Given the description of an element on the screen output the (x, y) to click on. 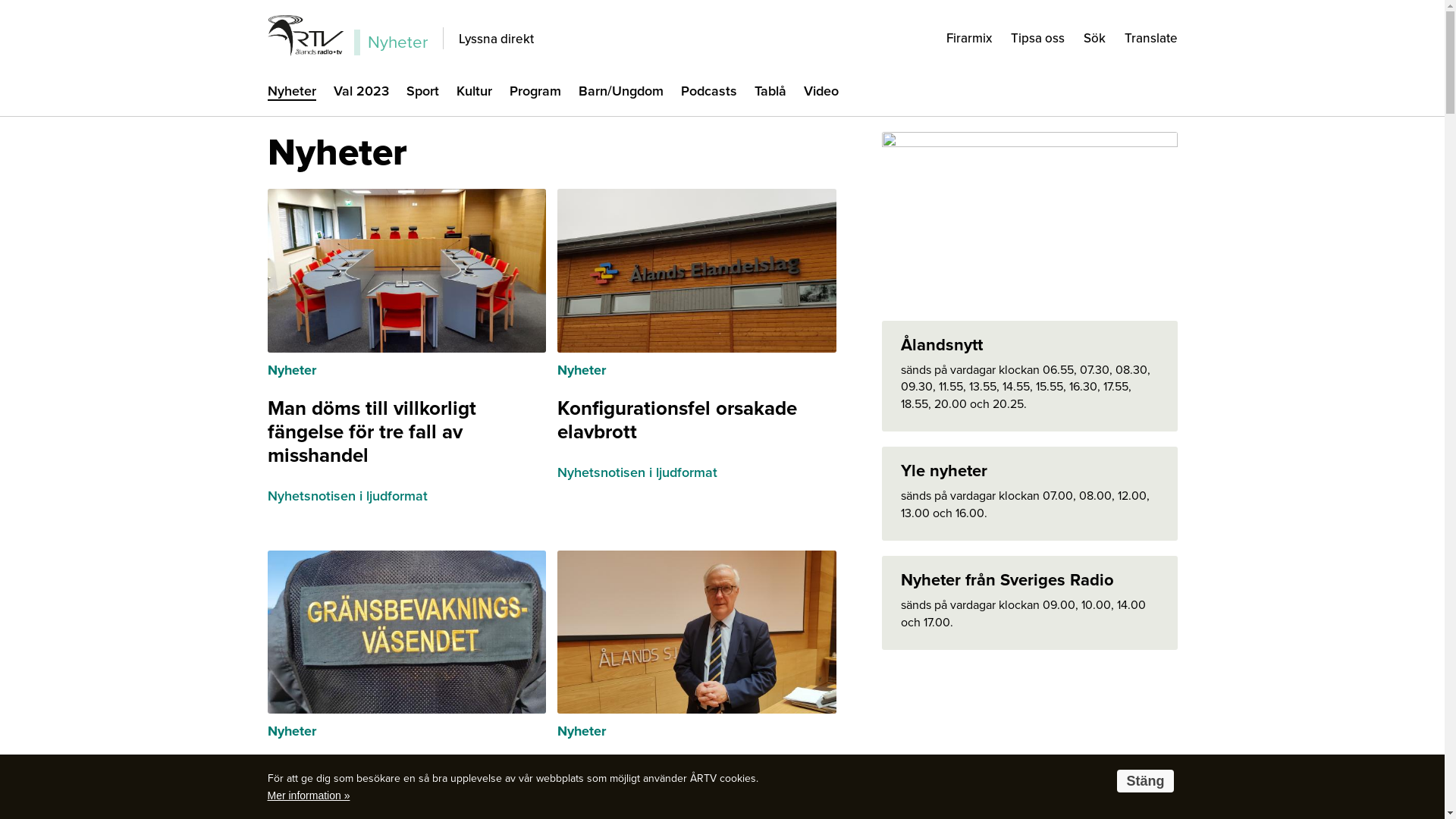
Nyheter Element type: text (581, 369)
Nyheter Element type: text (581, 730)
Kultur Element type: text (474, 92)
Program Element type: text (535, 92)
Tipsa oss Element type: text (1036, 38)
Nyheter Element type: text (290, 730)
Podcasts Element type: text (708, 92)
Nyhetsnotisen i ljudformat Element type: text (637, 473)
Konfigurationsfel orsakade elavbrott Element type: text (677, 419)
Nyheter Element type: text (290, 369)
Val 2023 Element type: text (361, 92)
Nyhetsnotisen i ljudformat Element type: text (346, 496)
Sport Element type: text (422, 92)
Lyssna direkt Element type: text (495, 37)
Firarmix Element type: text (968, 38)
Nyheter Element type: text (290, 92)
Video Element type: text (820, 92)
Barn/Ungdom Element type: text (619, 92)
